Given the description of an element on the screen output the (x, y) to click on. 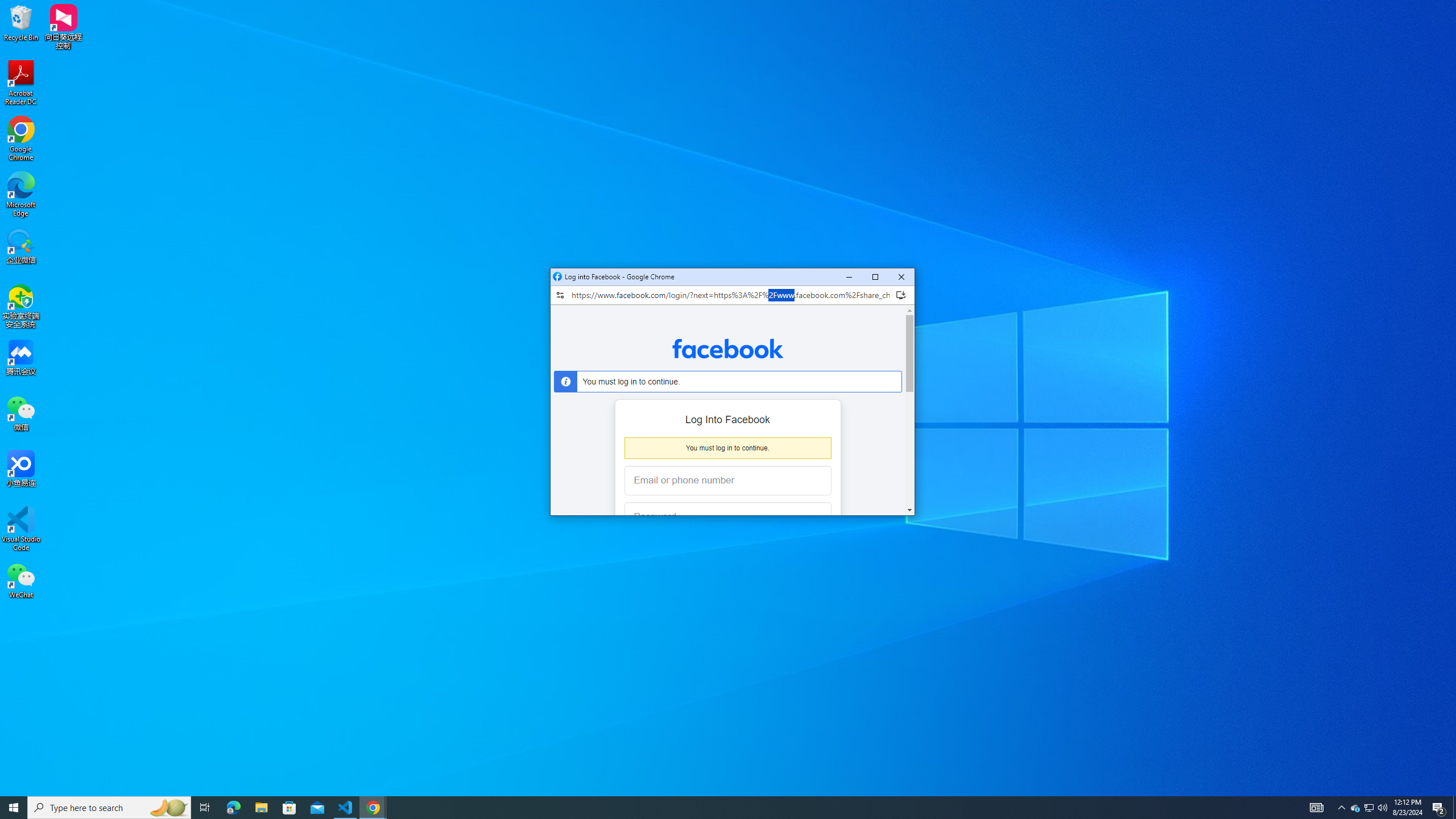
Microsoft Edge (233, 807)
Task View (204, 807)
AutomationID: 4105 (1368, 807)
Microsoft Edge (1316, 807)
Q2790: 100% (21, 194)
Action Center, 2 new notifications (1382, 807)
File Explorer (1439, 807)
